Given the description of an element on the screen output the (x, y) to click on. 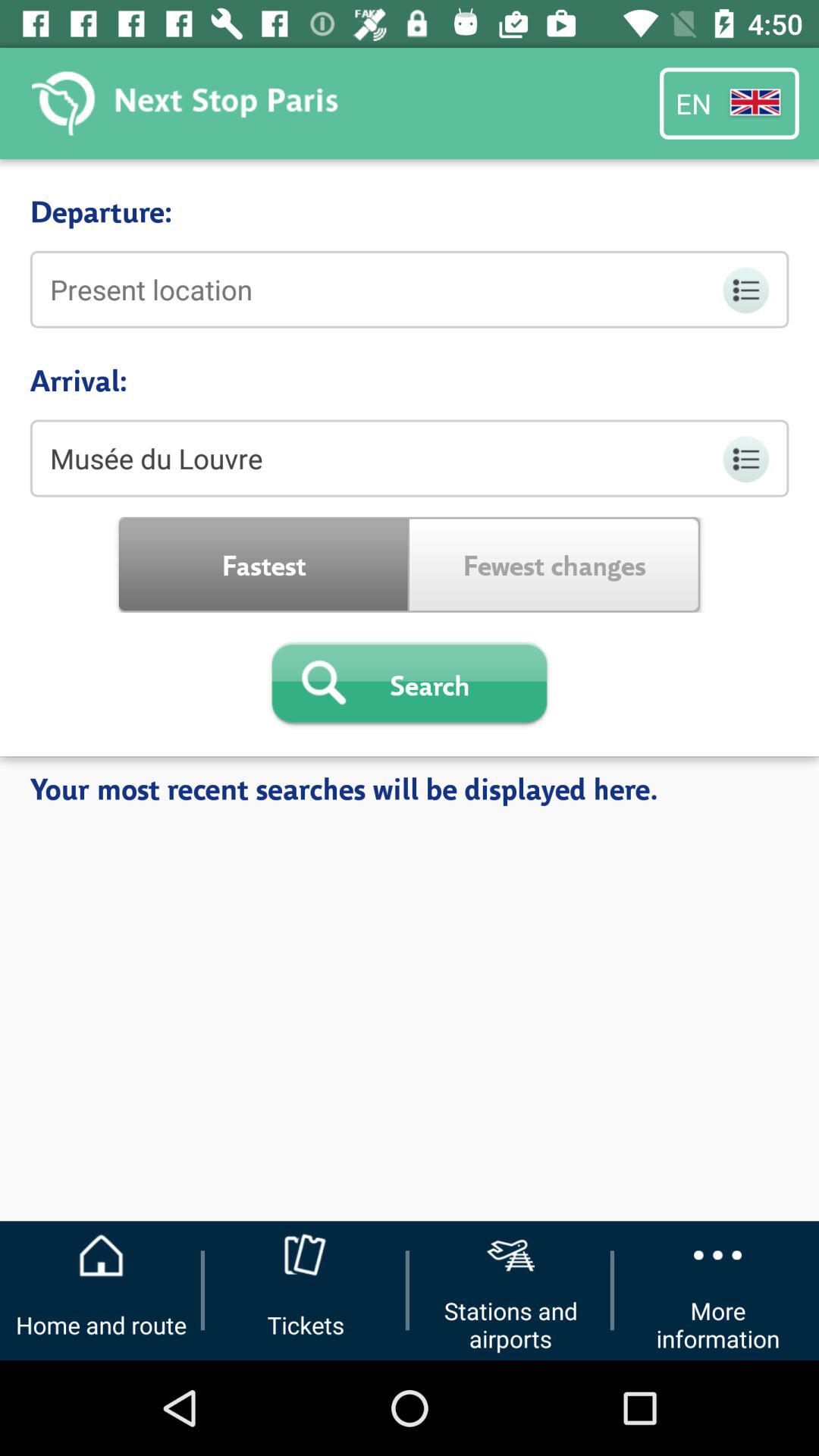
scroll to fewest changes item (554, 564)
